Given the description of an element on the screen output the (x, y) to click on. 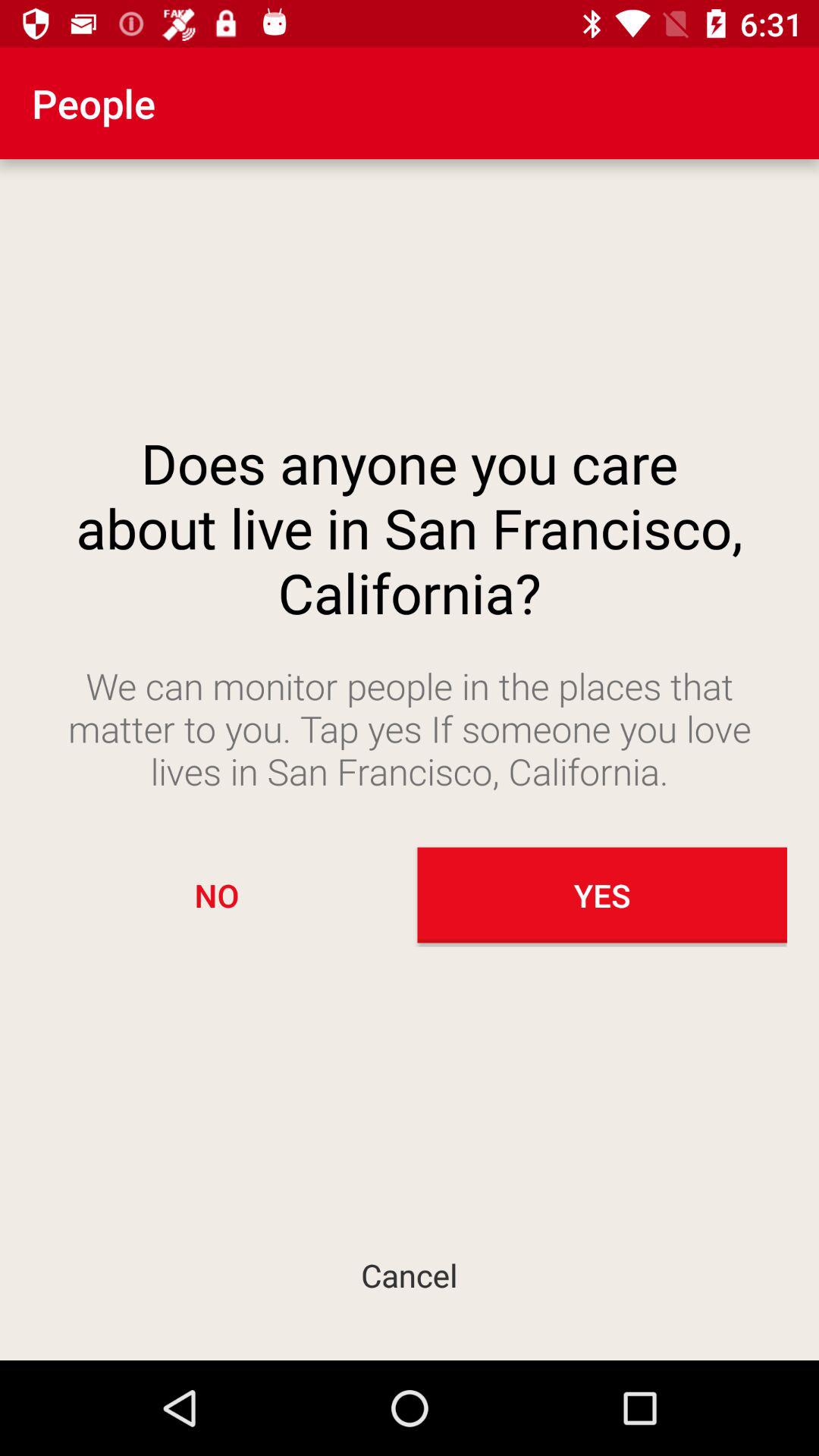
launch item below no item (409, 1274)
